Given the description of an element on the screen output the (x, y) to click on. 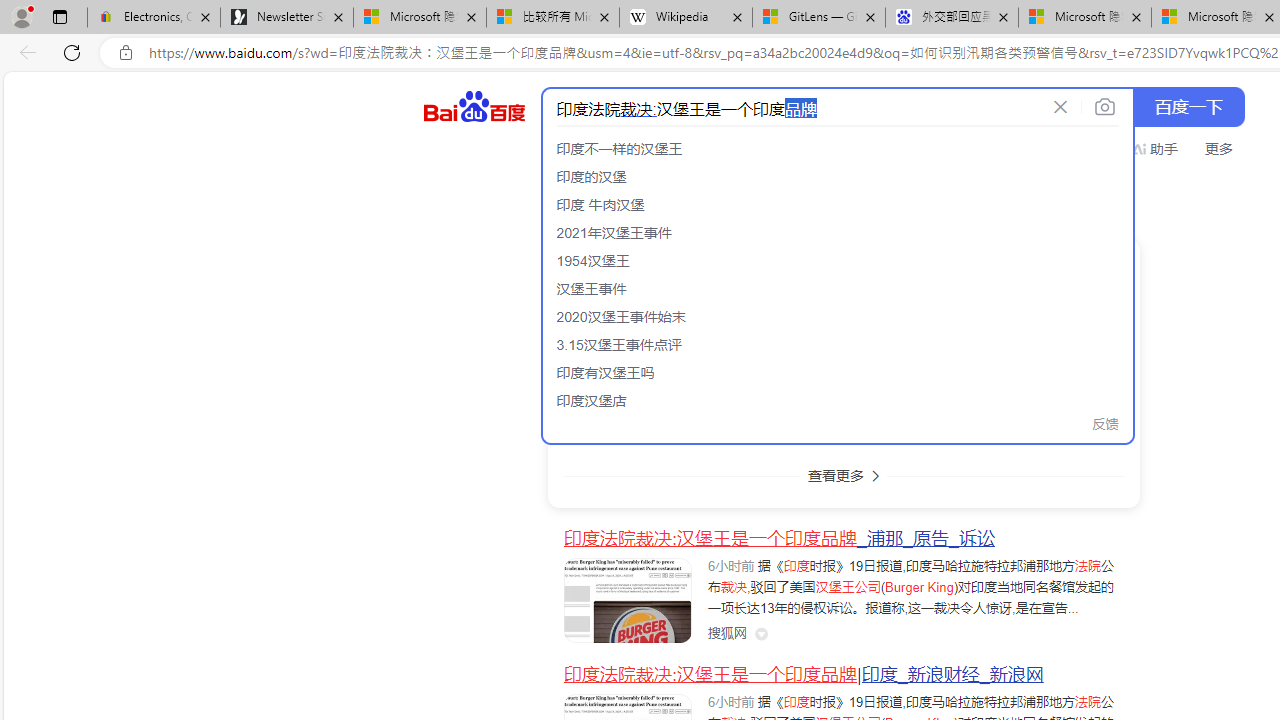
Class: c-img c-img-radius-large (628, 296)
Class: siteLink_9TPP3 (727, 632)
